Given the description of an element on the screen output the (x, y) to click on. 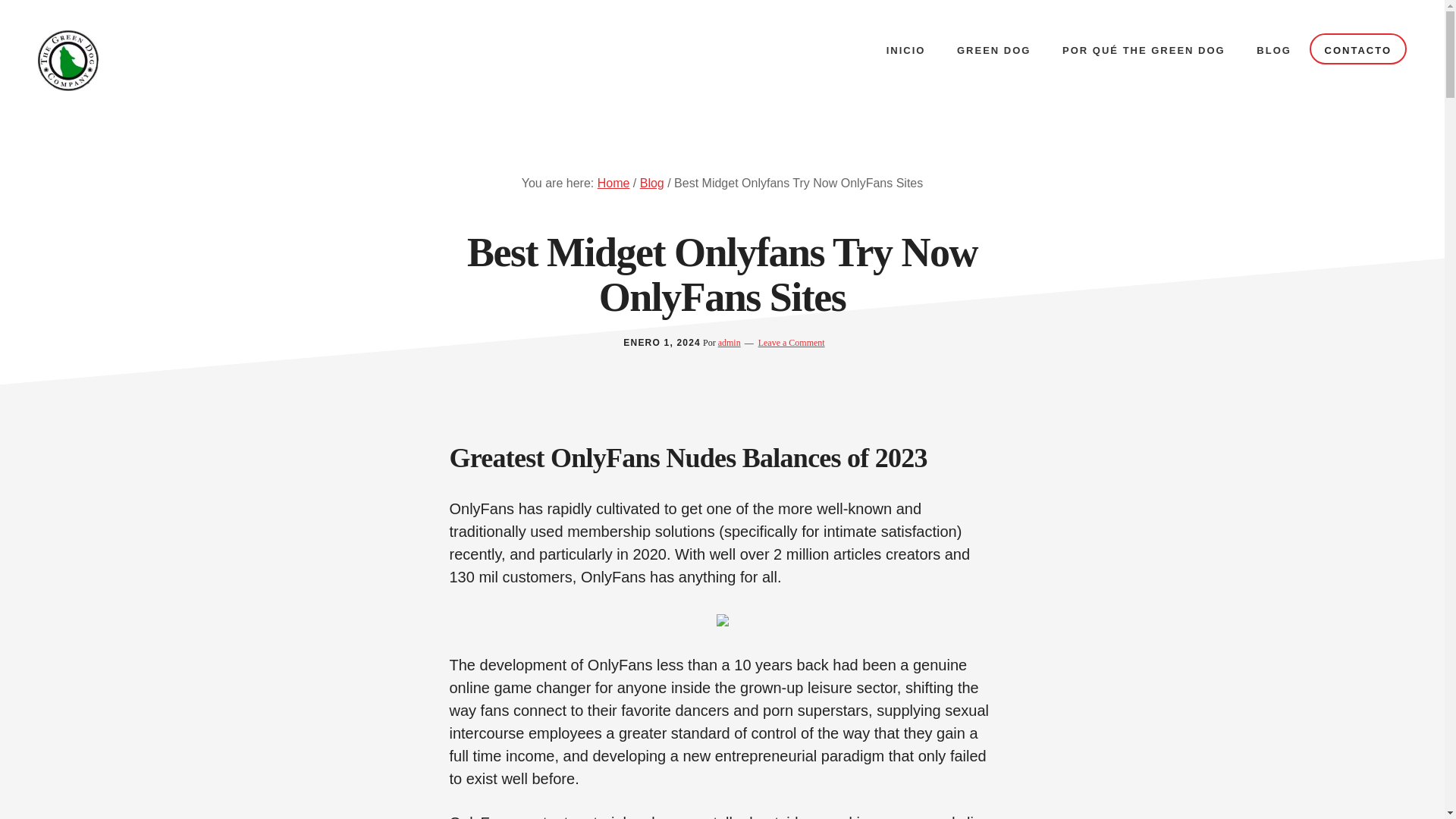
INICIO (905, 50)
CONTACTO (1357, 48)
Blog (651, 182)
Home (613, 182)
GREEN DOG (993, 50)
BLOG (1273, 50)
FRANQUICIAS PARA MASCOTAS THE GREEN DOG (150, 60)
Leave a Comment (791, 342)
admin (729, 342)
